Given the description of an element on the screen output the (x, y) to click on. 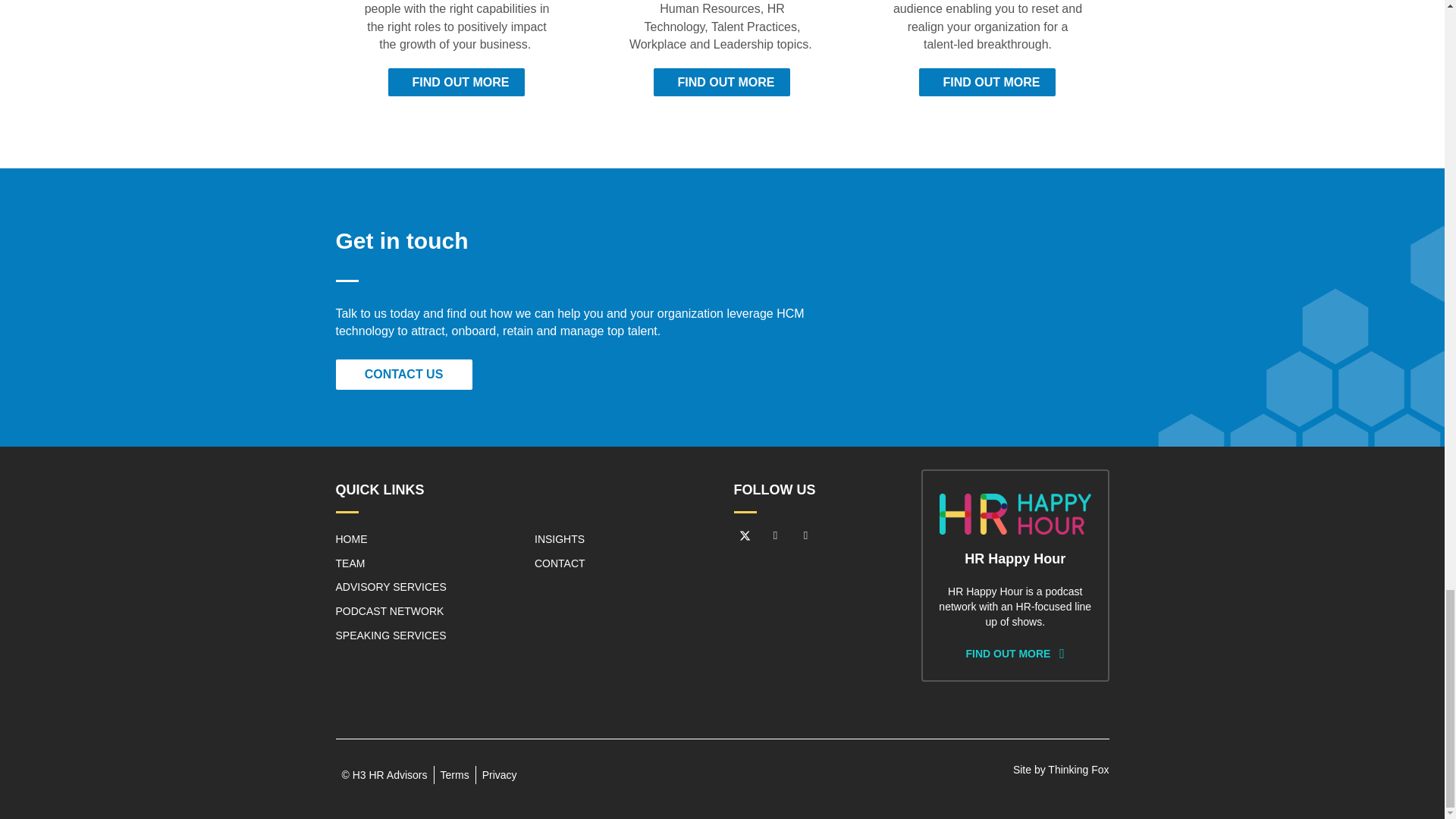
LinkedIn (775, 535)
Instagram (805, 535)
